Given the description of an element on the screen output the (x, y) to click on. 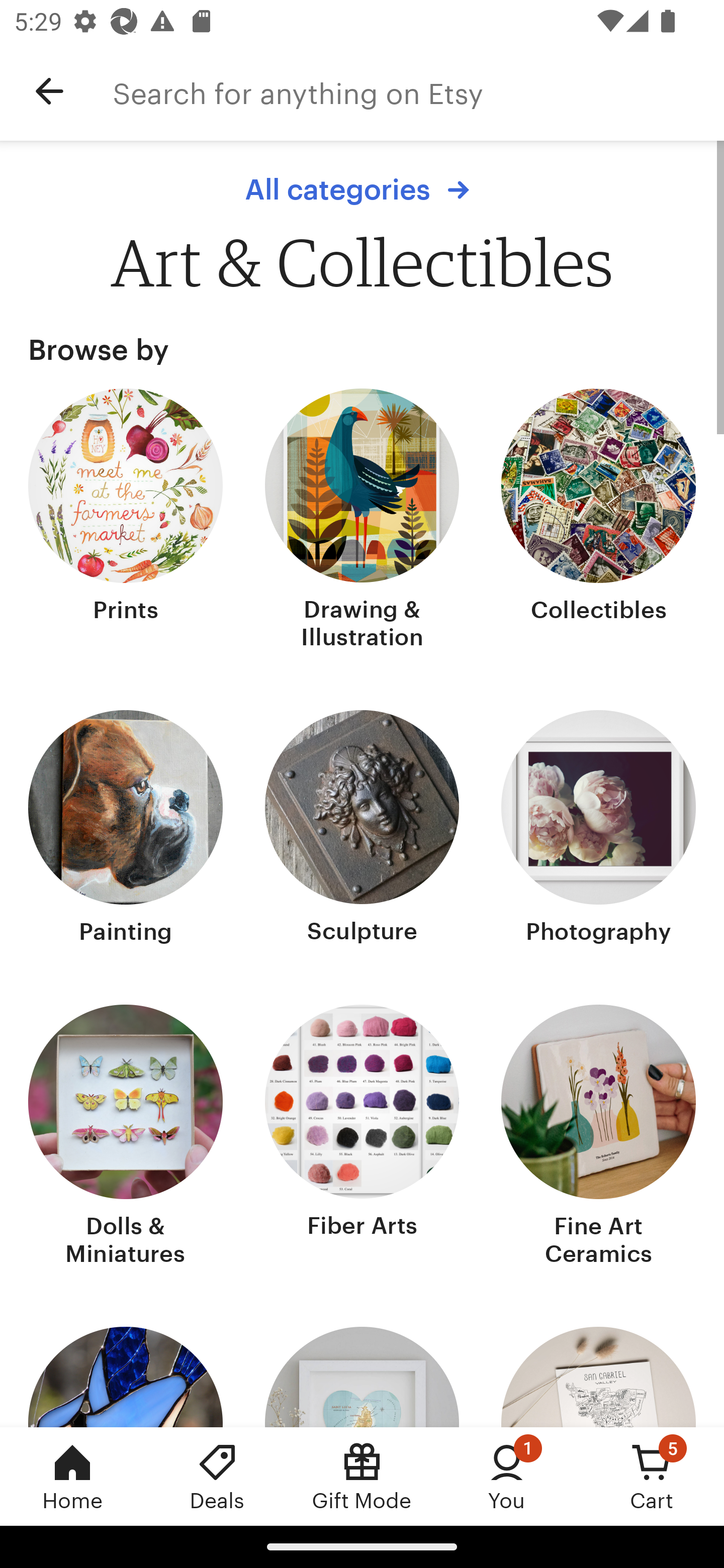
Navigate up (49, 91)
Search for anything on Etsy (418, 91)
All categories (361, 189)
Prints (125, 520)
Drawing & Illustration (361, 520)
Collectibles (598, 520)
Painting (125, 829)
Sculpture (361, 829)
Photography (598, 829)
Dolls & Miniatures (125, 1137)
Fiber Arts (361, 1137)
Fine Art Ceramics (598, 1137)
Deals (216, 1475)
Gift Mode (361, 1475)
You, 1 new notification You (506, 1475)
Cart, 5 new notifications Cart (651, 1475)
